Given the description of an element on the screen output the (x, y) to click on. 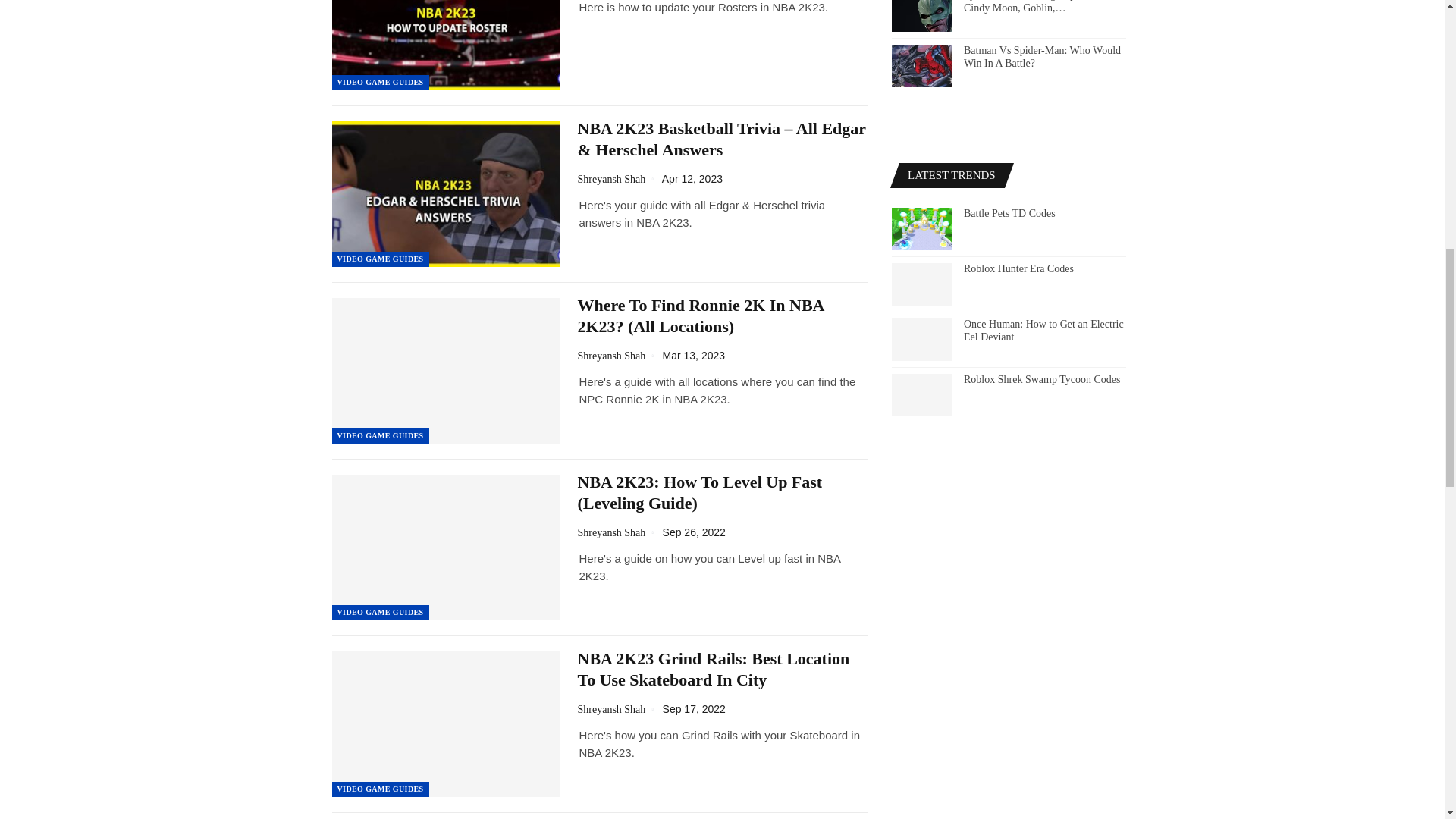
How To Update NBA 2K23 Rosters (445, 45)
Browse Author Articles (620, 532)
Browse Author Articles (620, 178)
Browse Author Articles (620, 355)
VIDEO GAME GUIDES (380, 82)
